Given the description of an element on the screen output the (x, y) to click on. 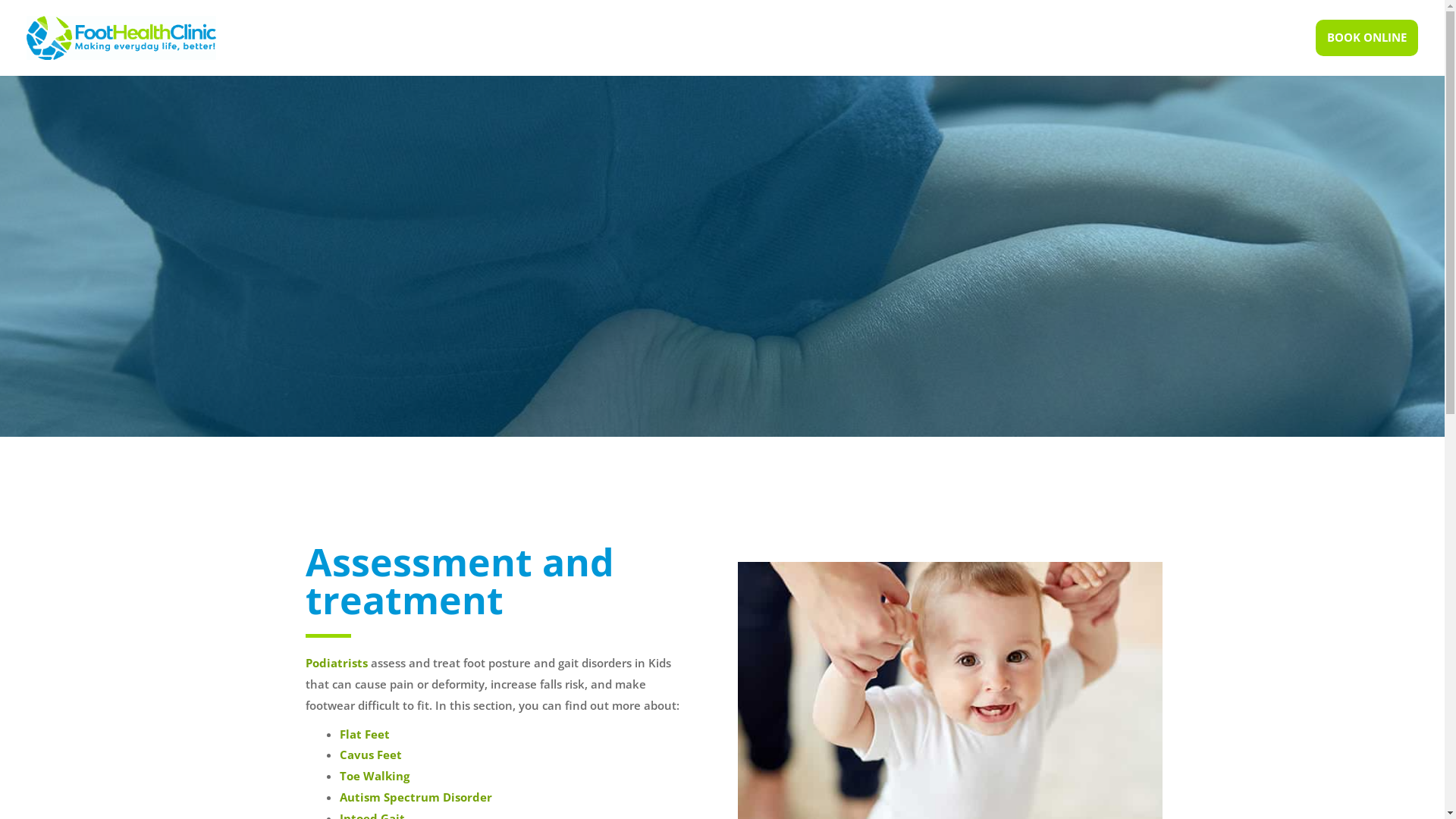
Cavus Feet Element type: text (370, 754)
Autism Spectrum Disorder Element type: text (415, 796)
Podiatrists Element type: text (335, 662)
Toe Walking Element type: text (374, 775)
BOOK ONLINE Element type: text (1366, 37)
Flat Feet Element type: text (364, 733)
